Given the description of an element on the screen output the (x, y) to click on. 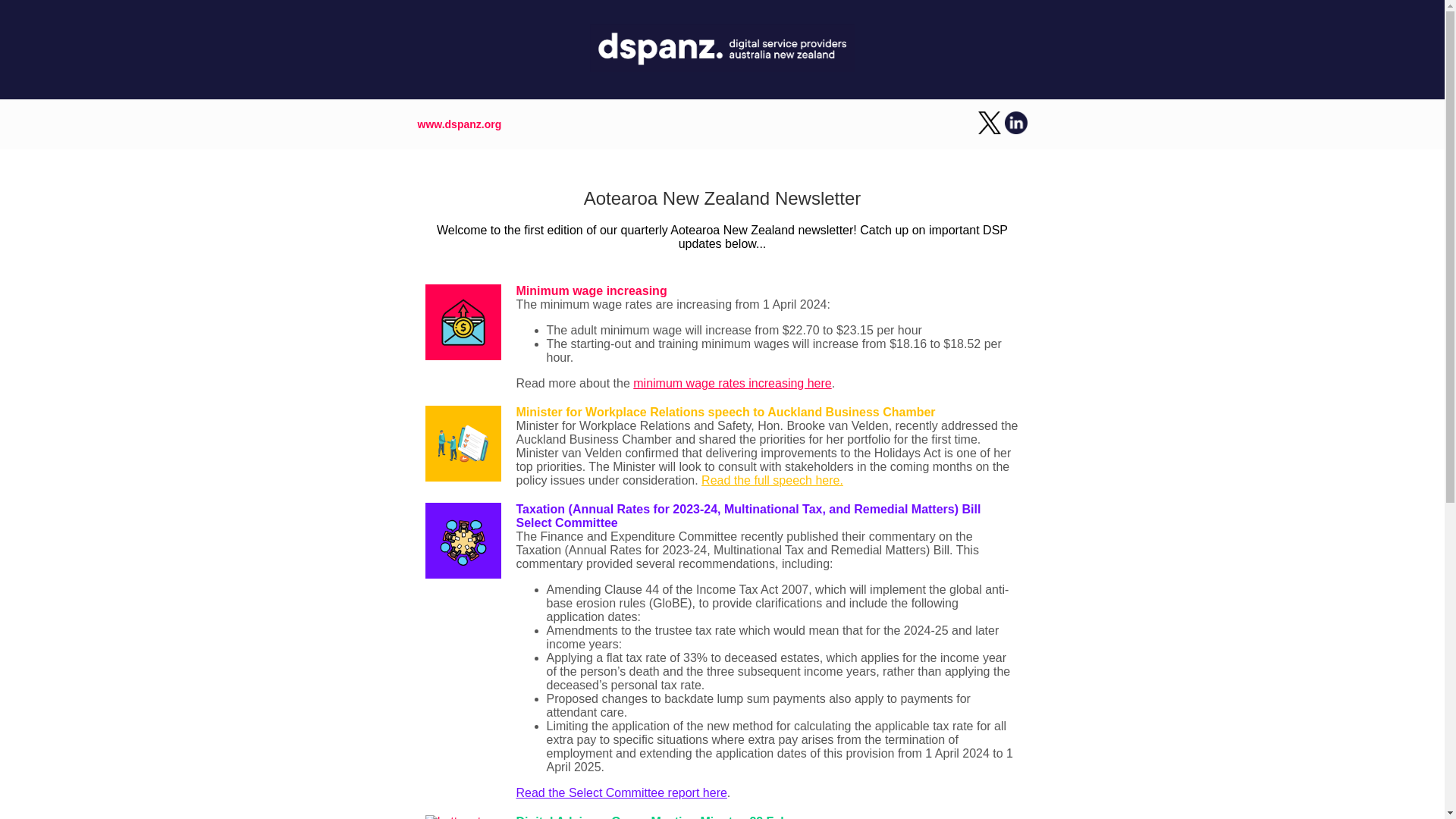
minimum wage rates increasing here (732, 382)
Read the Select Committee report here (620, 792)
Read the full speech here. (772, 480)
Minimum wage increasing (590, 290)
Digital Advisory Group Meeting Minutes 22 February (666, 816)
www.dspanz.org (458, 123)
